Given the description of an element on the screen output the (x, y) to click on. 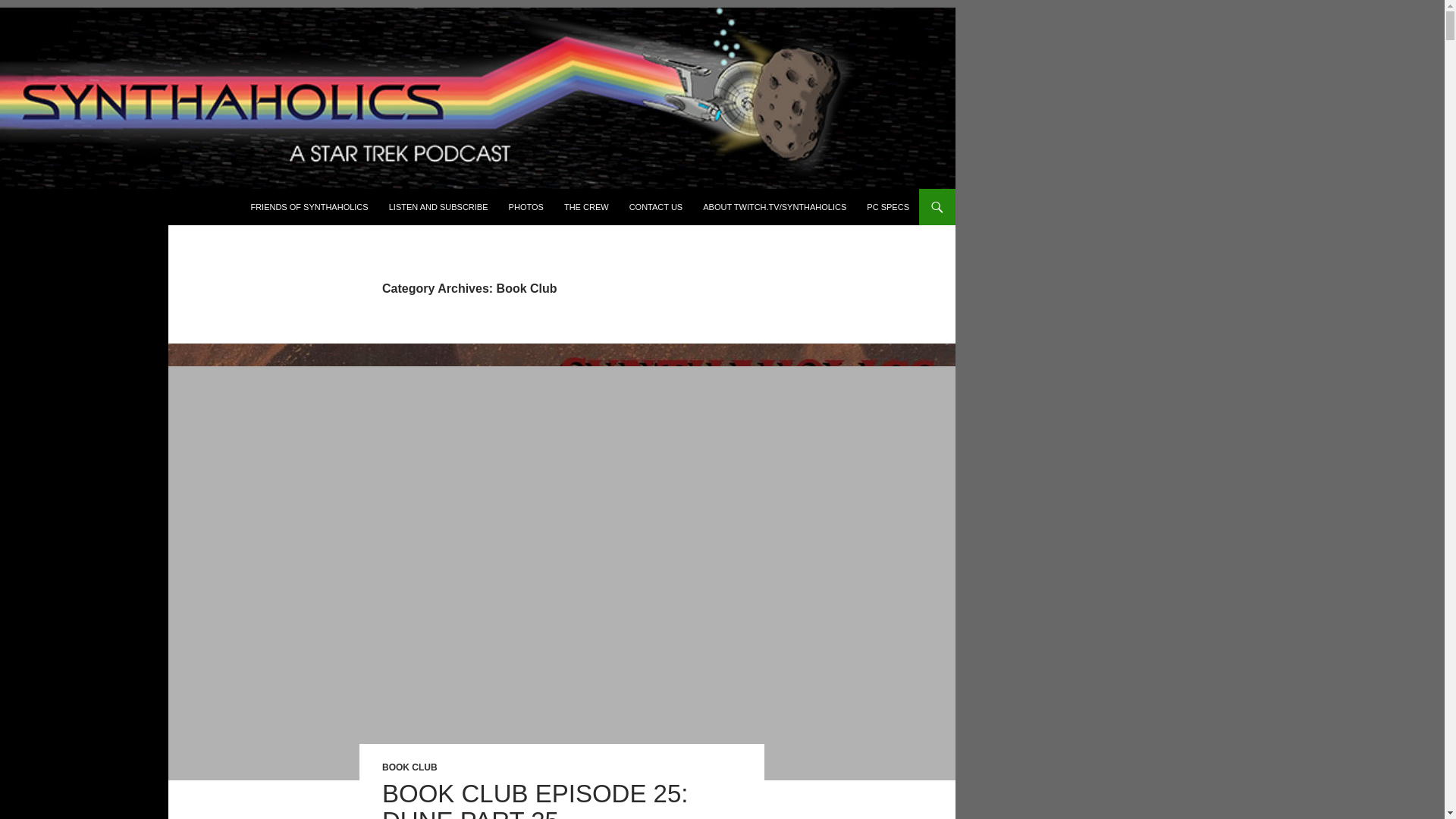
PHOTOS (526, 207)
LISTEN AND SUBSCRIBE (438, 207)
BOOK CLUB (409, 767)
BOOK CLUB EPISODE 25: DUNE PART 25 (534, 799)
THE CREW (585, 207)
Synthaholics (65, 207)
FRIENDS OF SYNTHAHOLICS (309, 207)
CONTACT US (656, 207)
